Given the description of an element on the screen output the (x, y) to click on. 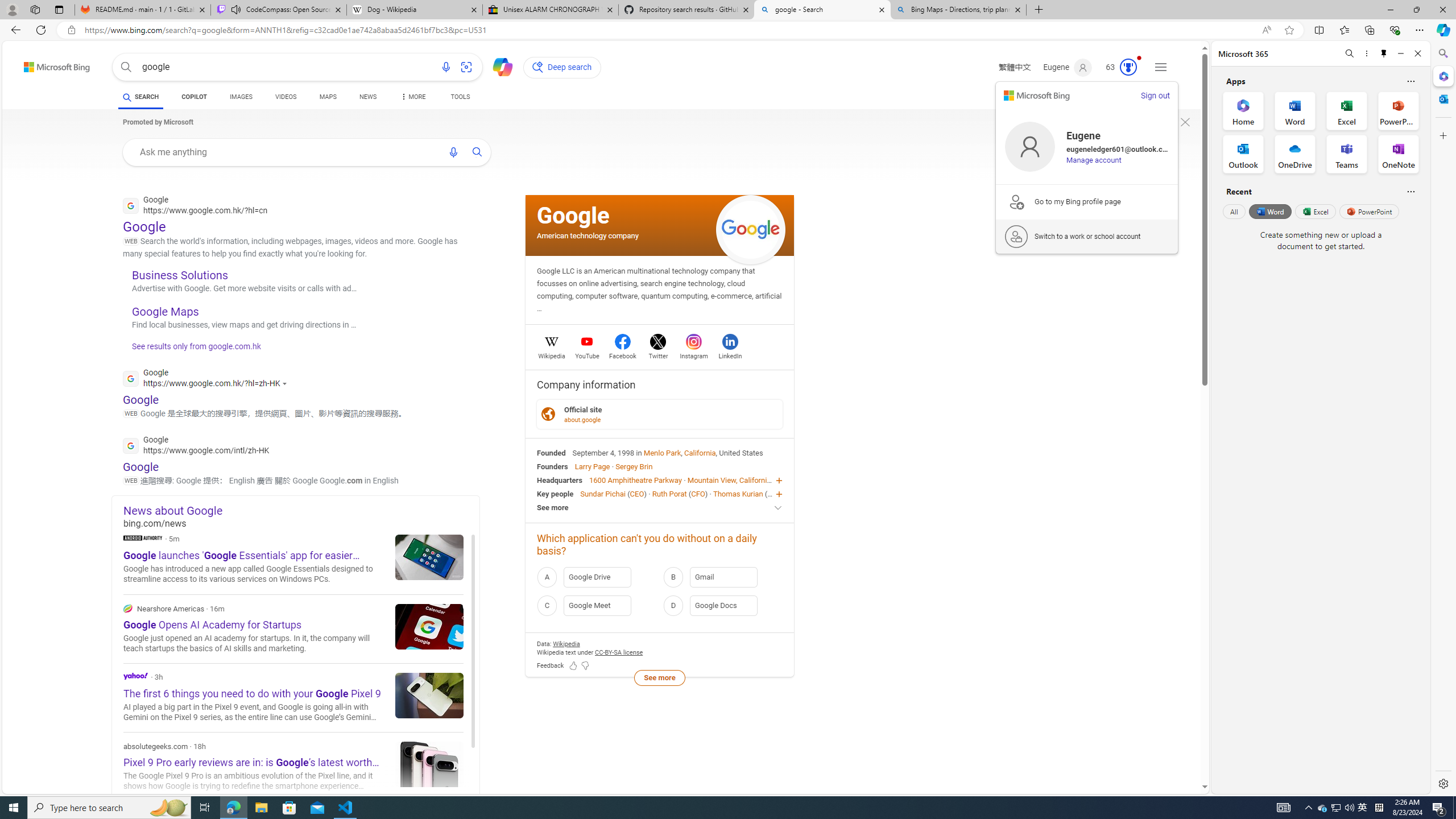
PowerPoint Office App (1398, 110)
See more images of Google (751, 228)
Ruth Porat (669, 492)
Skip to content (36, 63)
Home Office App (1243, 110)
Chat (497, 65)
Nearshore Americas (127, 608)
Go to my Bing profile page (1086, 201)
IMAGES (241, 96)
Excel Office App (1346, 110)
Manage account (1093, 159)
Data attribution Wikipedia (566, 643)
